Given the description of an element on the screen output the (x, y) to click on. 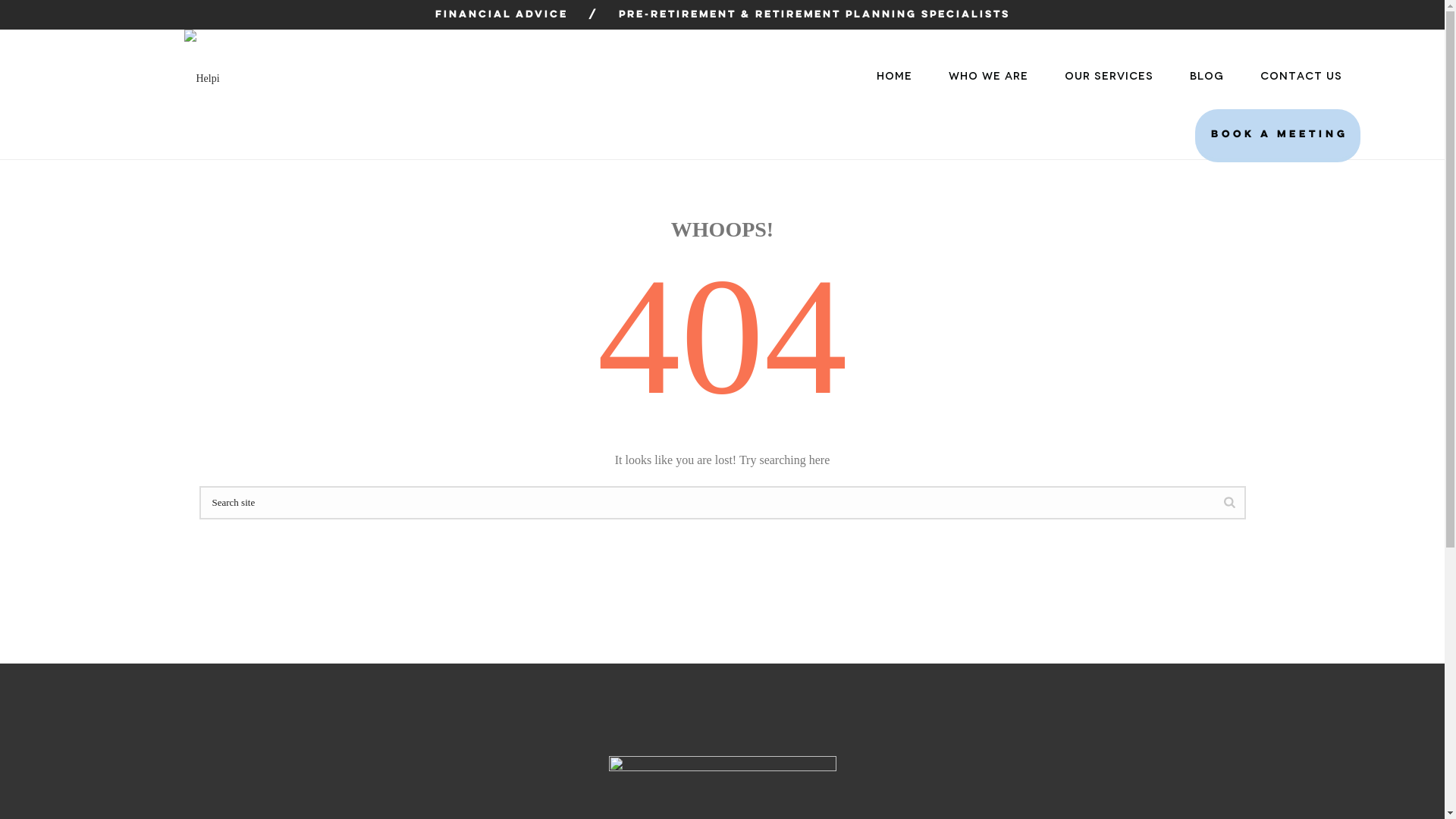
BOOK A MEETING Element type: text (1277, 135)
BLOG Element type: text (1205, 76)
Helping people live their best financial life. Element type: hover (201, 78)
CONTACT US Element type: text (1300, 76)
WHO WE ARE Element type: text (987, 76)
HOME Element type: text (893, 76)
OUR SERVICES Element type: text (1109, 76)
